Given the description of an element on the screen output the (x, y) to click on. 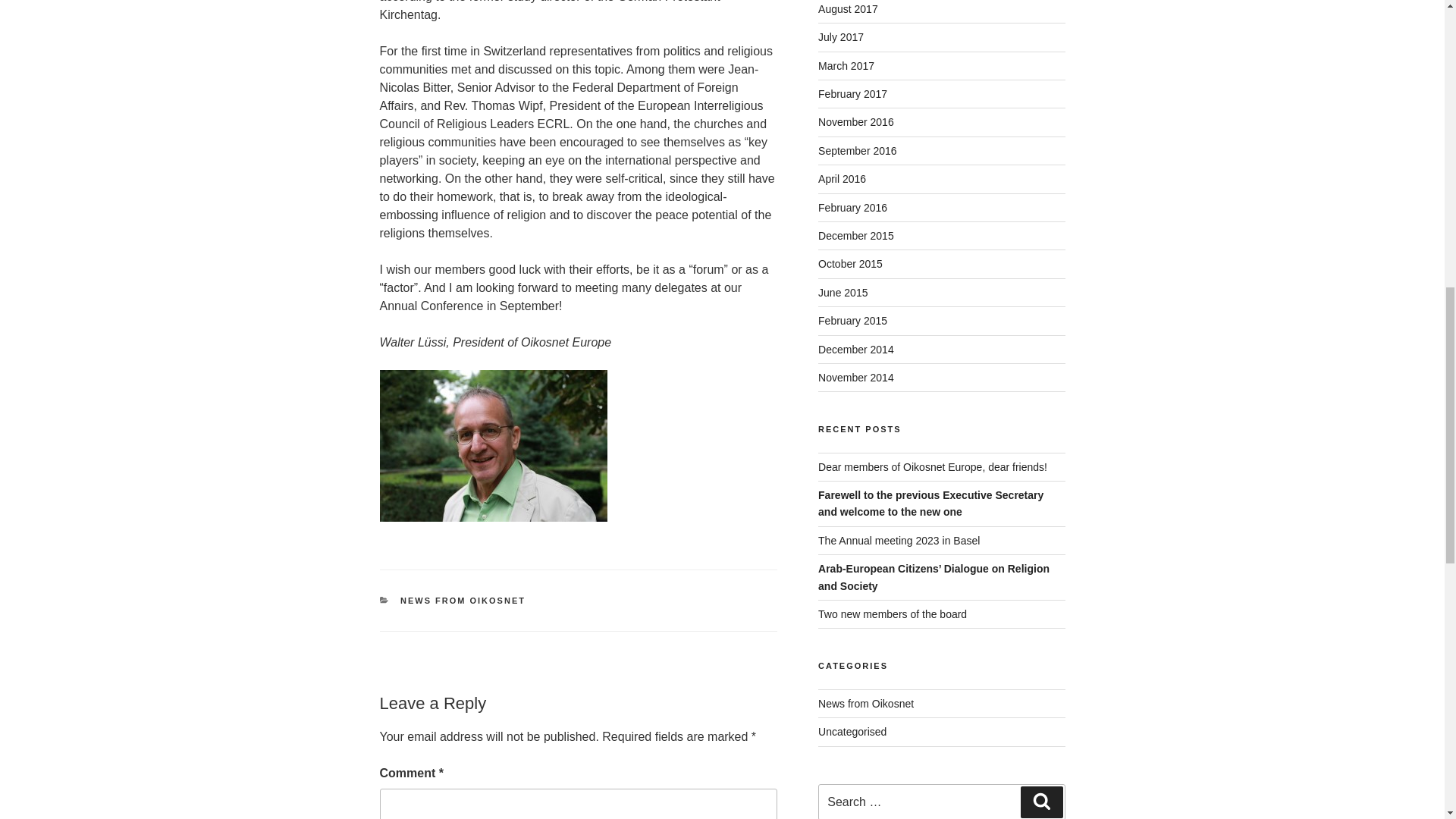
NEWS FROM OIKOSNET (462, 600)
